Given the description of an element on the screen output the (x, y) to click on. 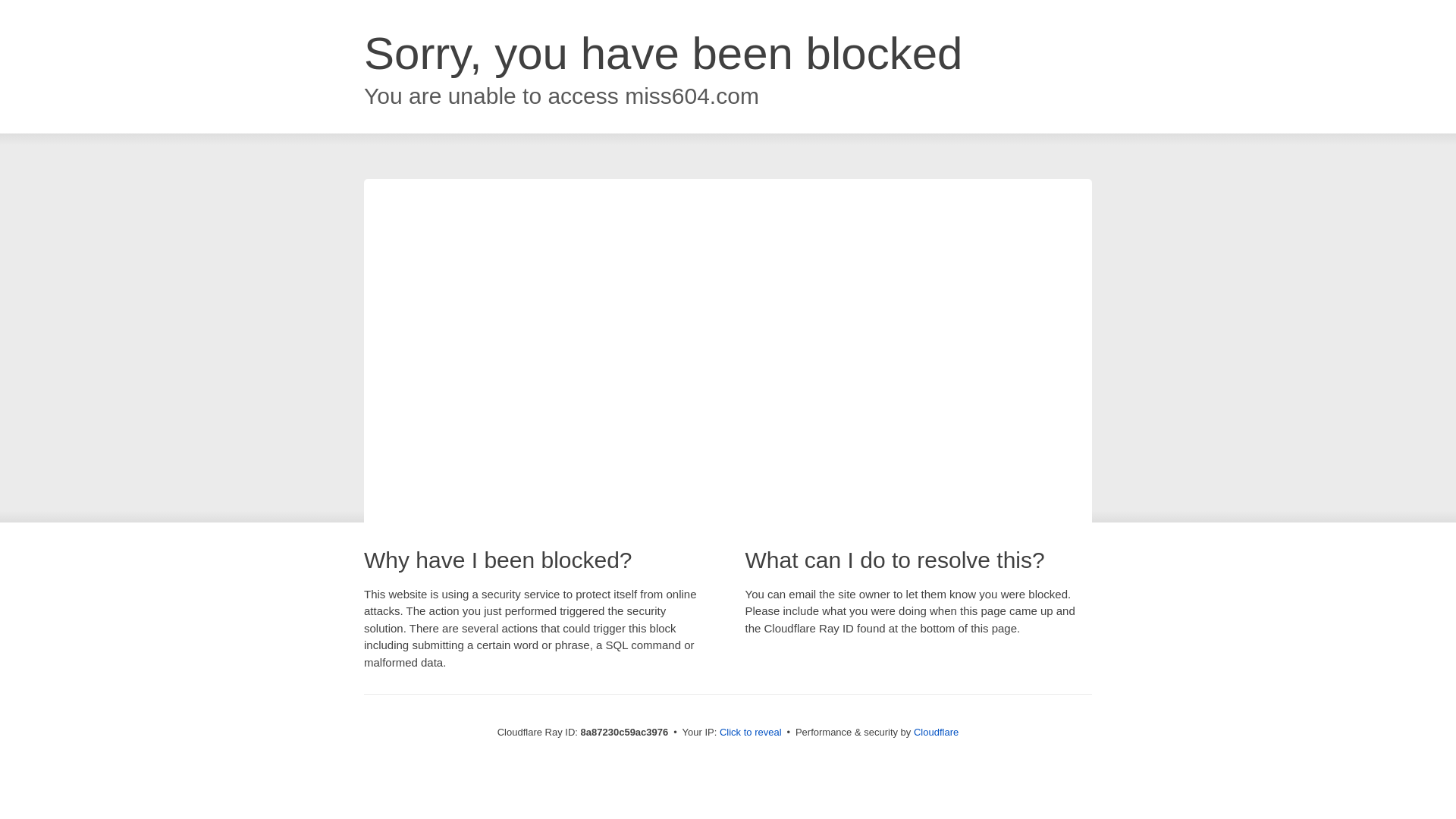
Cloudflare (936, 731)
Click to reveal (750, 732)
